Given the description of an element on the screen output the (x, y) to click on. 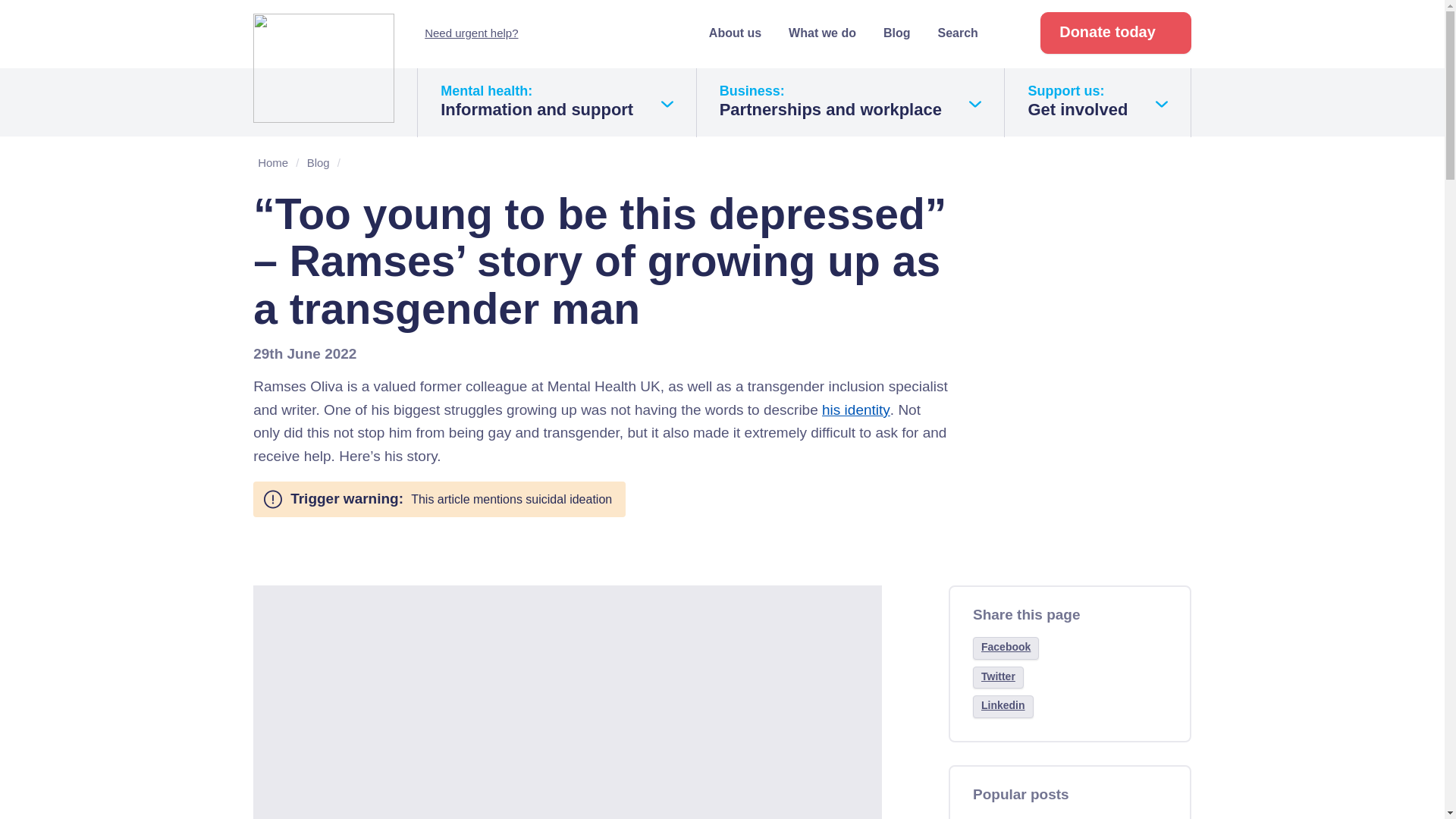
Blog (897, 32)
What we do (822, 32)
About us (735, 32)
Skip to content (45, 10)
Need urgent help? (851, 102)
Donate today (471, 32)
Go to home page (1116, 33)
Search (323, 67)
